Given the description of an element on the screen output the (x, y) to click on. 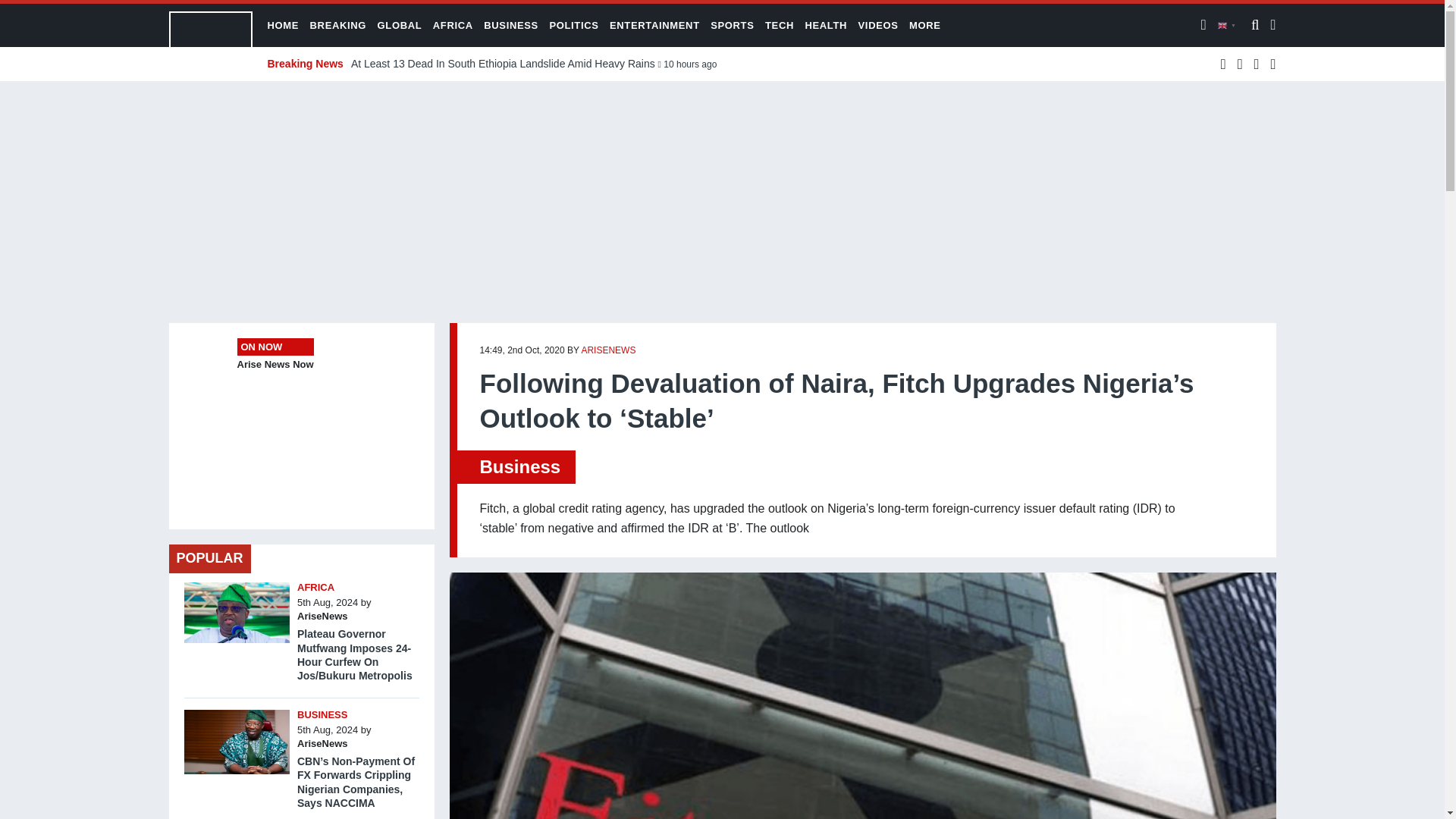
BUSINESS (322, 714)
Business (519, 466)
AFRICA (315, 586)
Posts by AriseNews (322, 743)
Posts by AriseNews (607, 349)
ARISENEWS (607, 349)
AriseNews (322, 743)
AriseNews (322, 615)
Posts by AriseNews (322, 615)
